Given the description of an element on the screen output the (x, y) to click on. 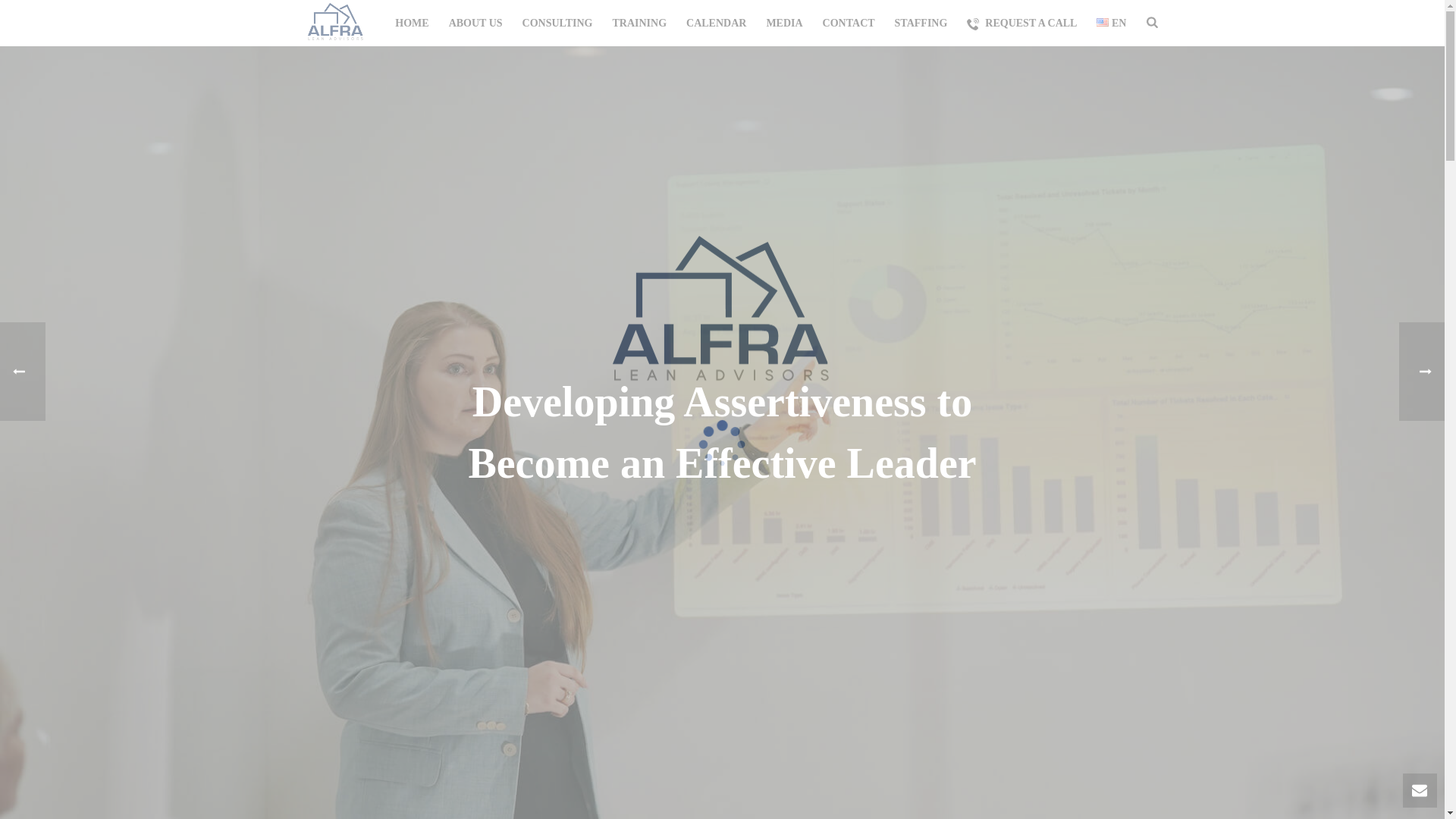
CALENDAR (716, 23)
MEDIA (783, 23)
ABOUT US (475, 23)
CONSULTING (557, 23)
TRAINING (639, 23)
STAFFING (921, 23)
CONTACT (848, 23)
EN (1102, 22)
TRAINING (639, 23)
HOME (411, 23)
